Given the description of an element on the screen output the (x, y) to click on. 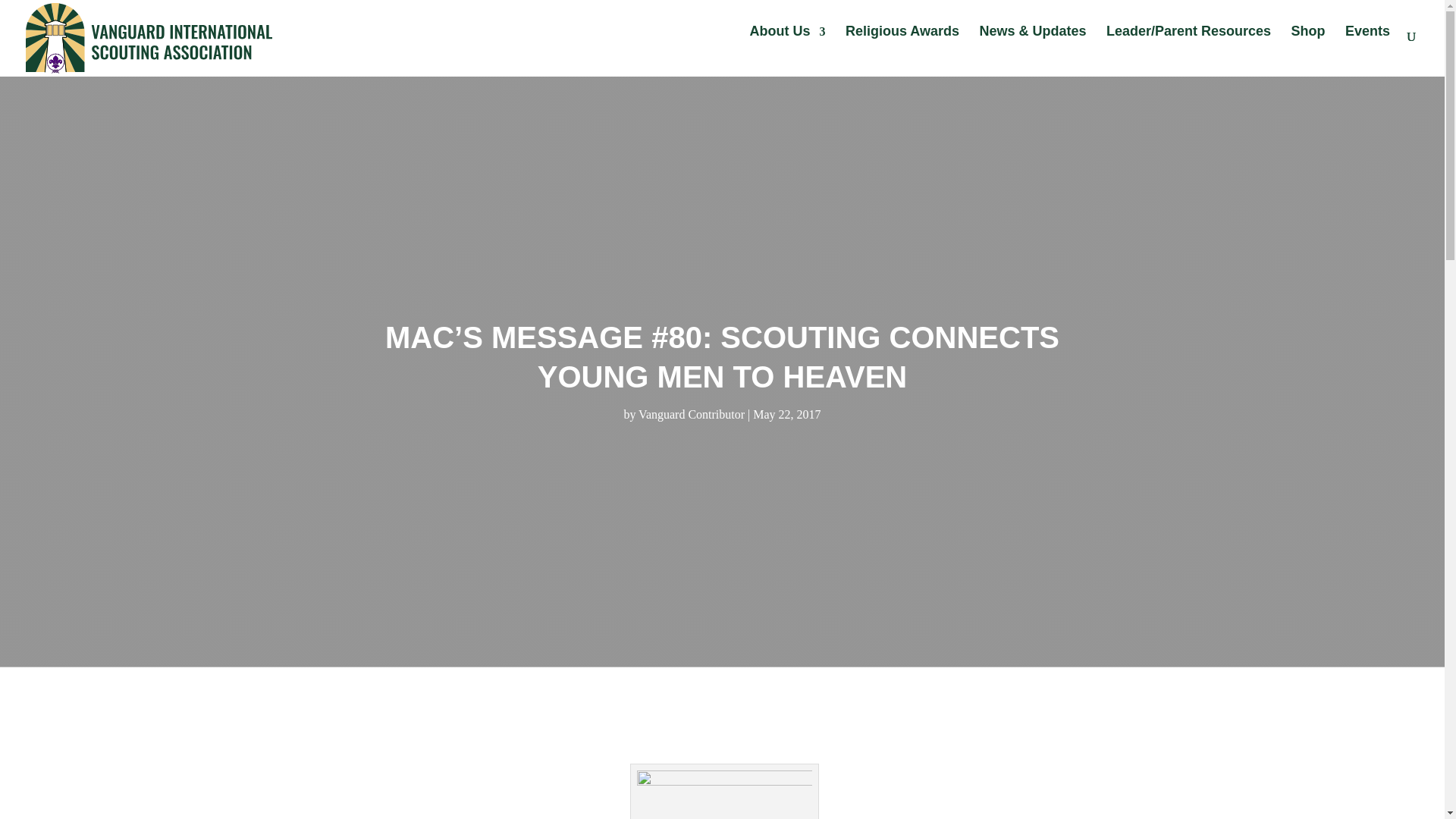
Vanguard Contributor (691, 413)
Posts by Vanguard Contributor (691, 413)
Religious Awards (902, 46)
Events (1367, 46)
About Us (787, 46)
